Given the description of an element on the screen output the (x, y) to click on. 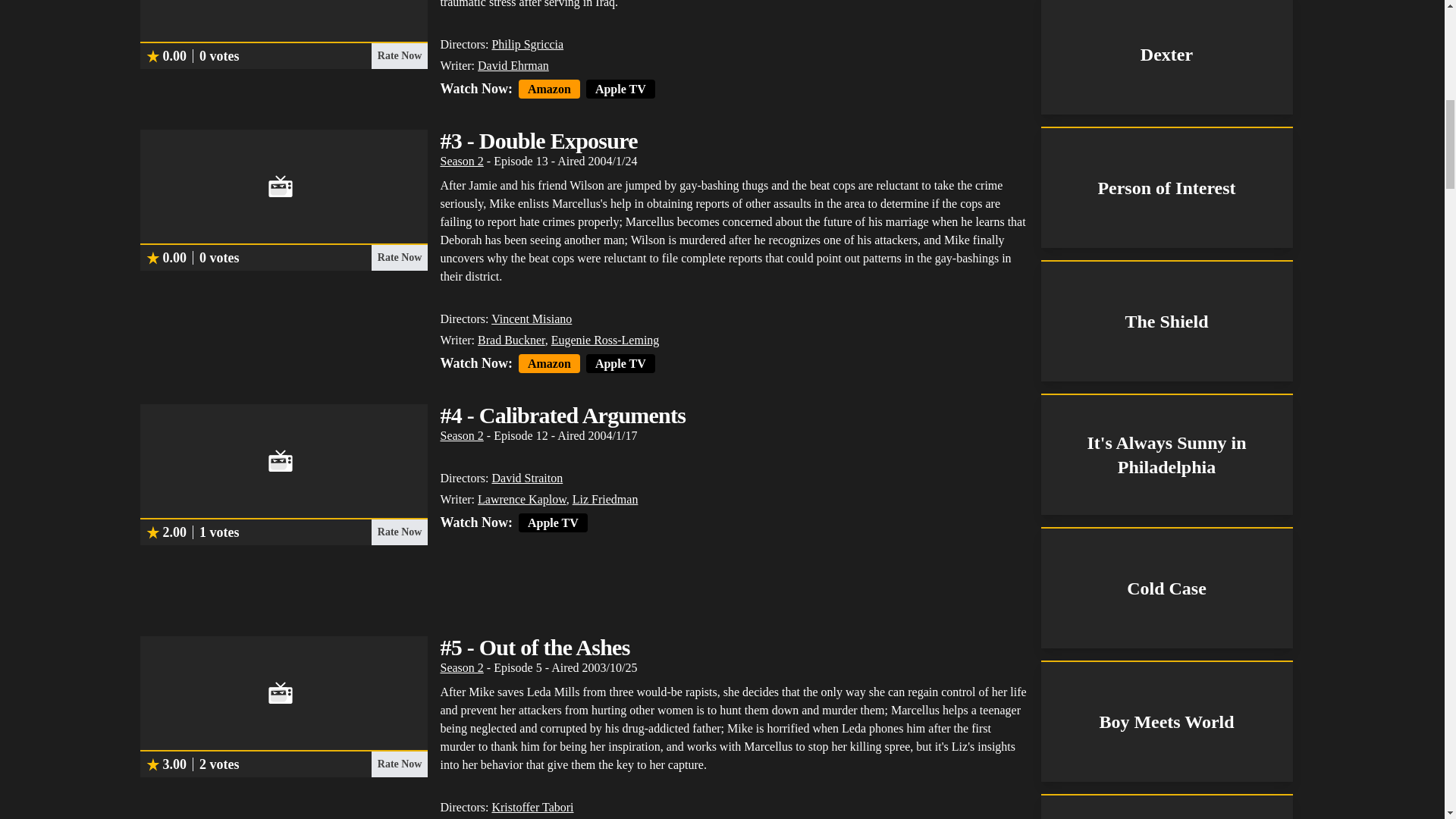
Season 2 (461, 667)
Rate Now (399, 532)
Lawrence Kaplow (521, 499)
Brad Buckner (510, 339)
Apple TV (620, 363)
Season 2 (461, 160)
Liz Friedman (605, 499)
Rate Now (399, 764)
David Straiton (527, 477)
Philip Sgriccia (527, 43)
